Given the description of an element on the screen output the (x, y) to click on. 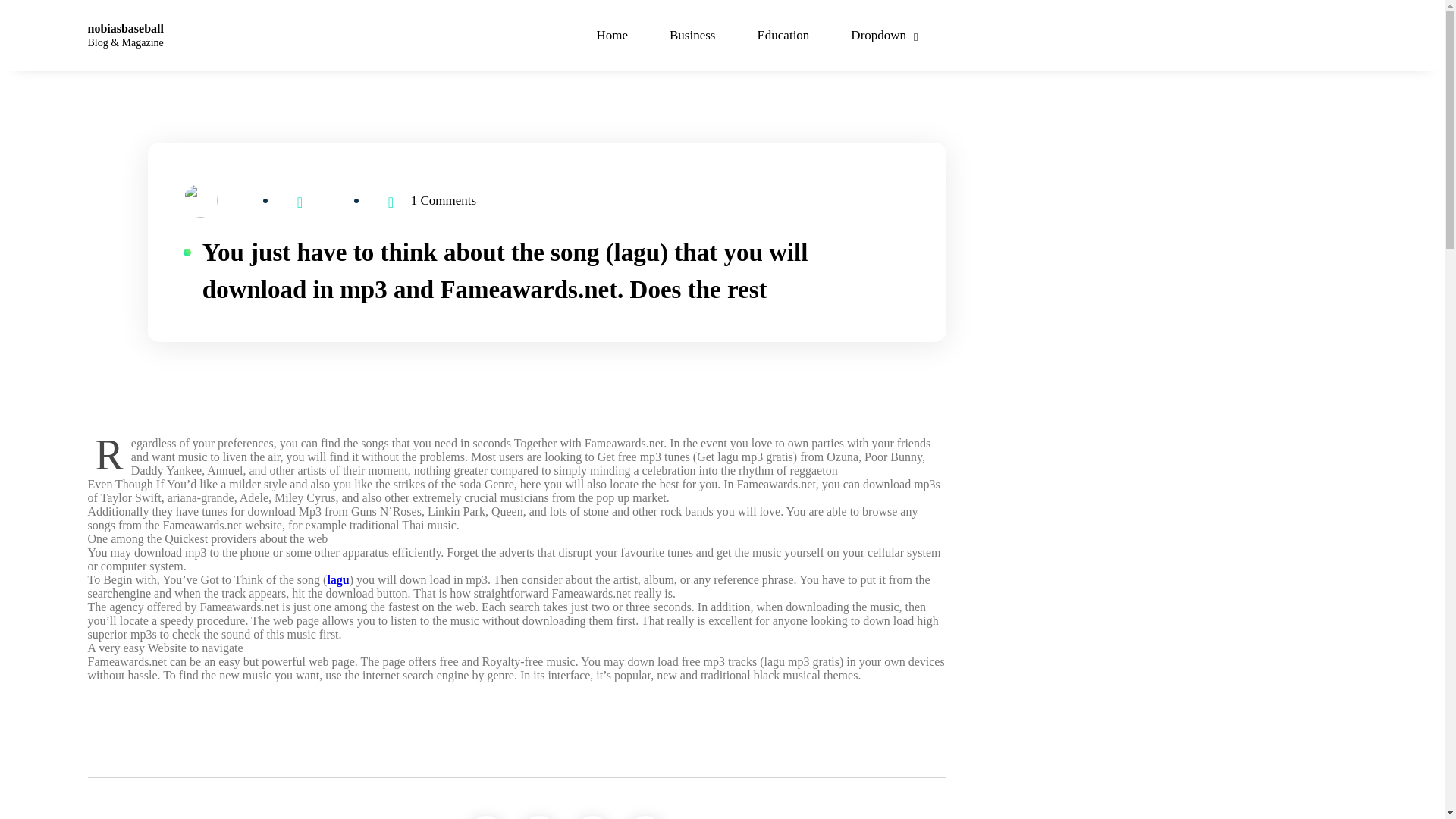
Education (782, 35)
Dropdown (887, 35)
Home (611, 35)
lagu (337, 579)
1 Comments (443, 200)
nobiasbaseball (125, 29)
Business (692, 35)
